Given the description of an element on the screen output the (x, y) to click on. 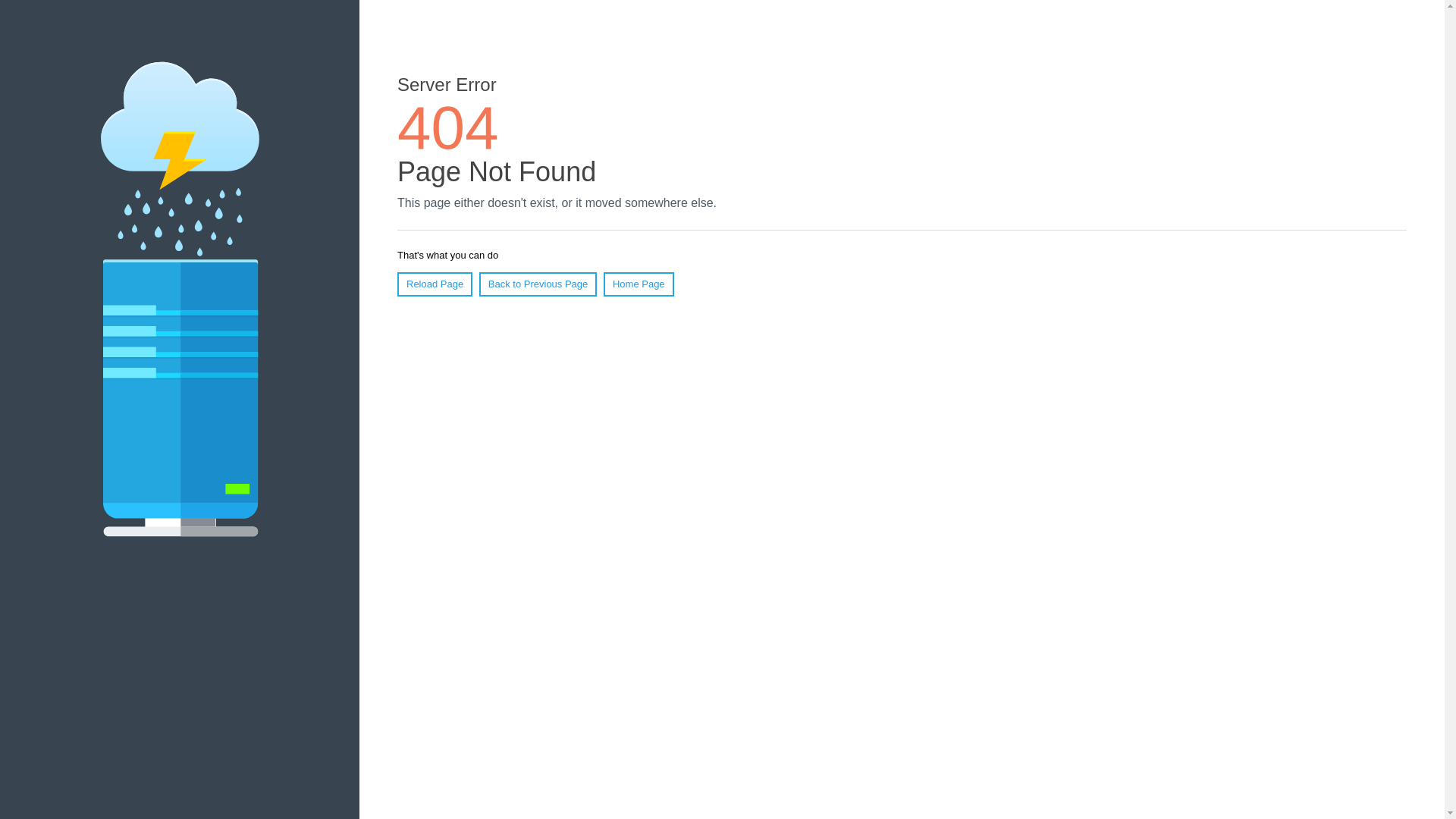
Home Page Element type: text (638, 284)
Back to Previous Page Element type: text (538, 284)
Reload Page Element type: text (434, 284)
